Given the description of an element on the screen output the (x, y) to click on. 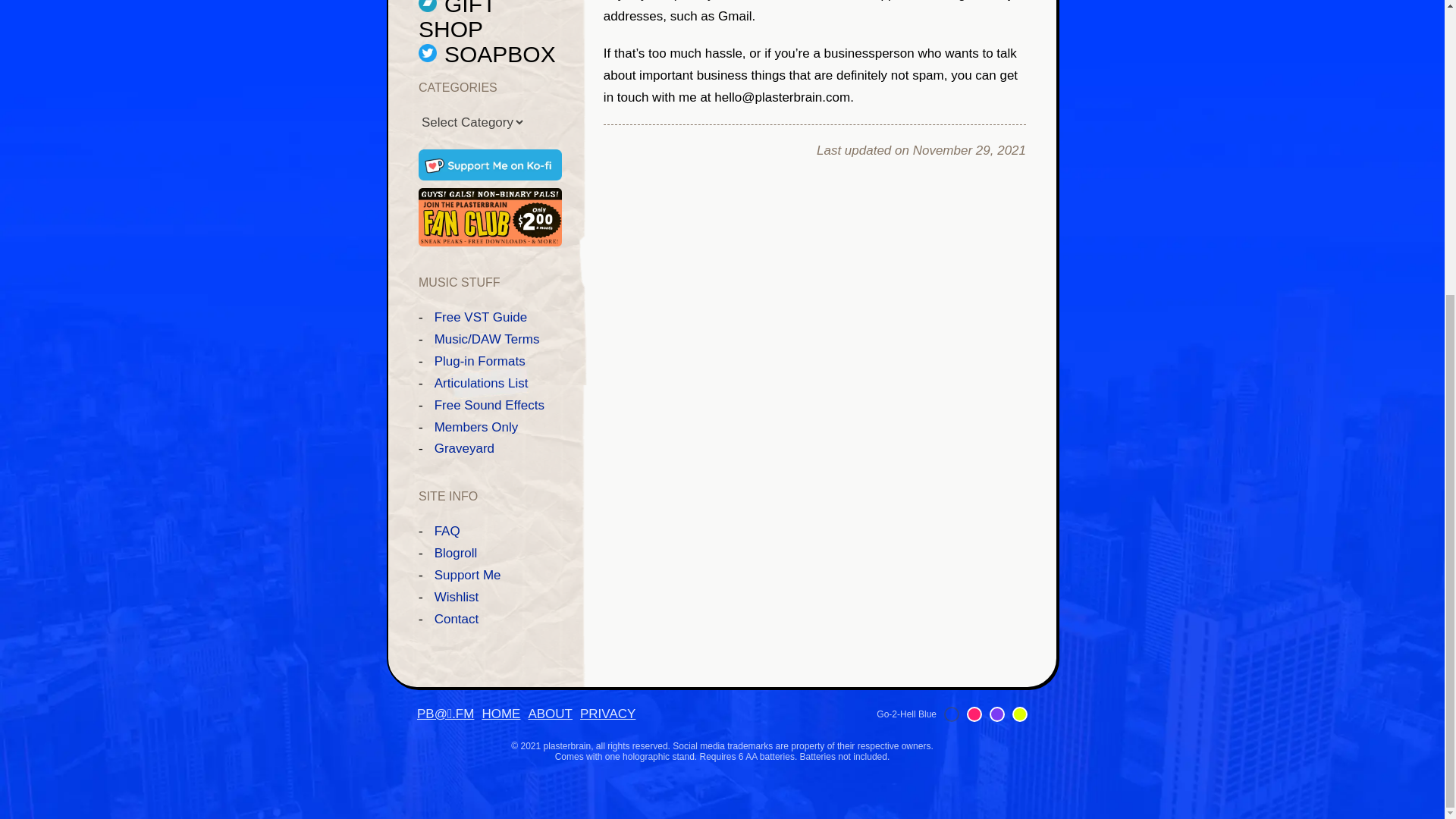
Support Me (466, 575)
Contact (456, 618)
Graveyard (464, 448)
PRIVACY (606, 714)
Free VST Guide (480, 317)
FAQ (446, 531)
Free Sound Effects (488, 405)
ABOUT (549, 714)
Members Only (475, 427)
Blogroll (455, 553)
SOAPBOX (487, 53)
Plug-in Formats (479, 360)
Wishlist (456, 596)
HOME (500, 714)
Articulations List (480, 382)
